Given the description of an element on the screen output the (x, y) to click on. 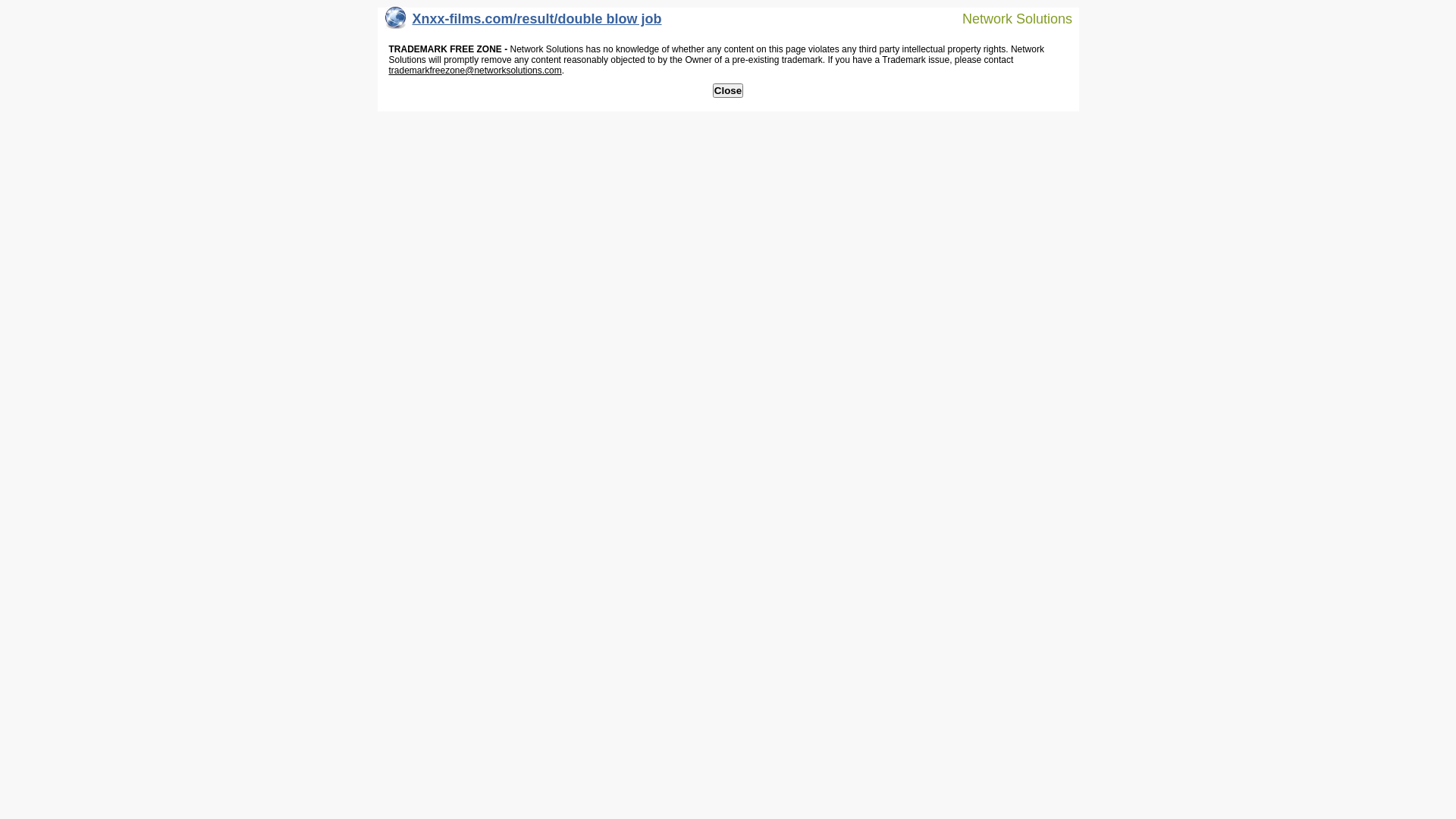
Close Element type: text (727, 90)
Network Solutions Element type: text (1007, 17)
Xnxx-films.com/result/double blow job Element type: text (523, 21)
trademarkfreezone@networksolutions.com Element type: text (474, 70)
